Given the description of an element on the screen output the (x, y) to click on. 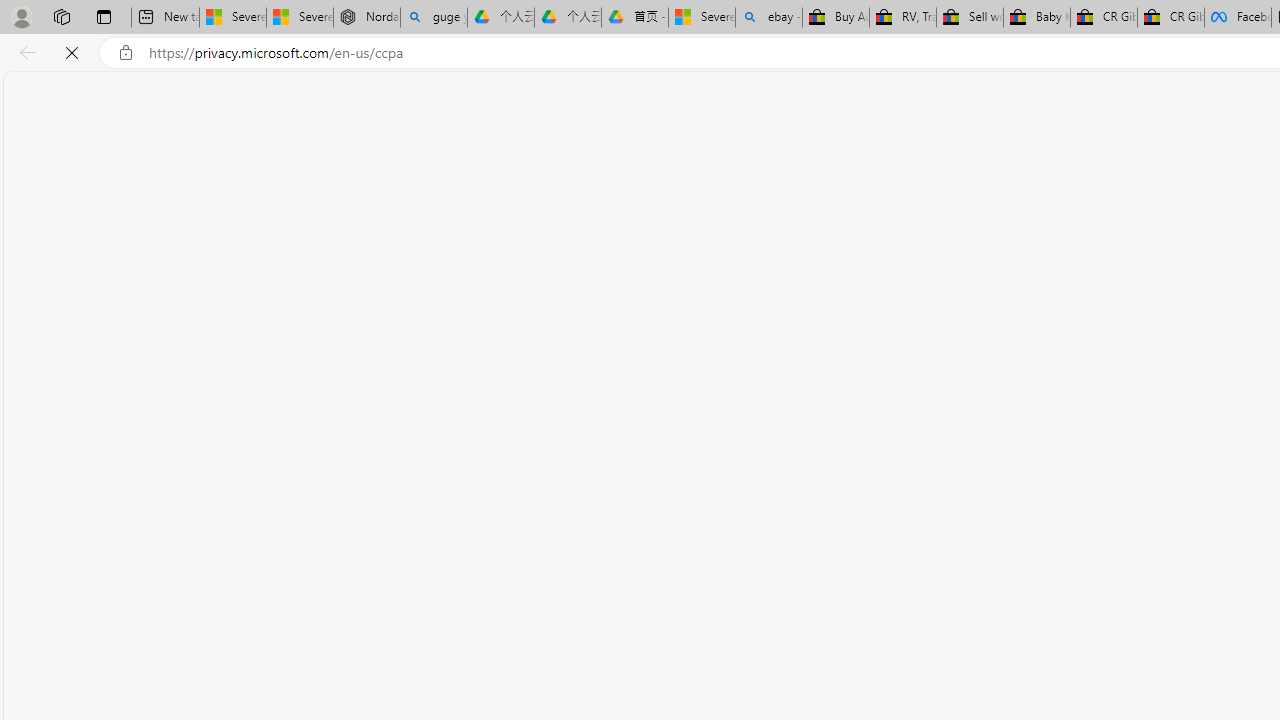
guge yunpan - Search (433, 17)
